Given the description of an element on the screen output the (x, y) to click on. 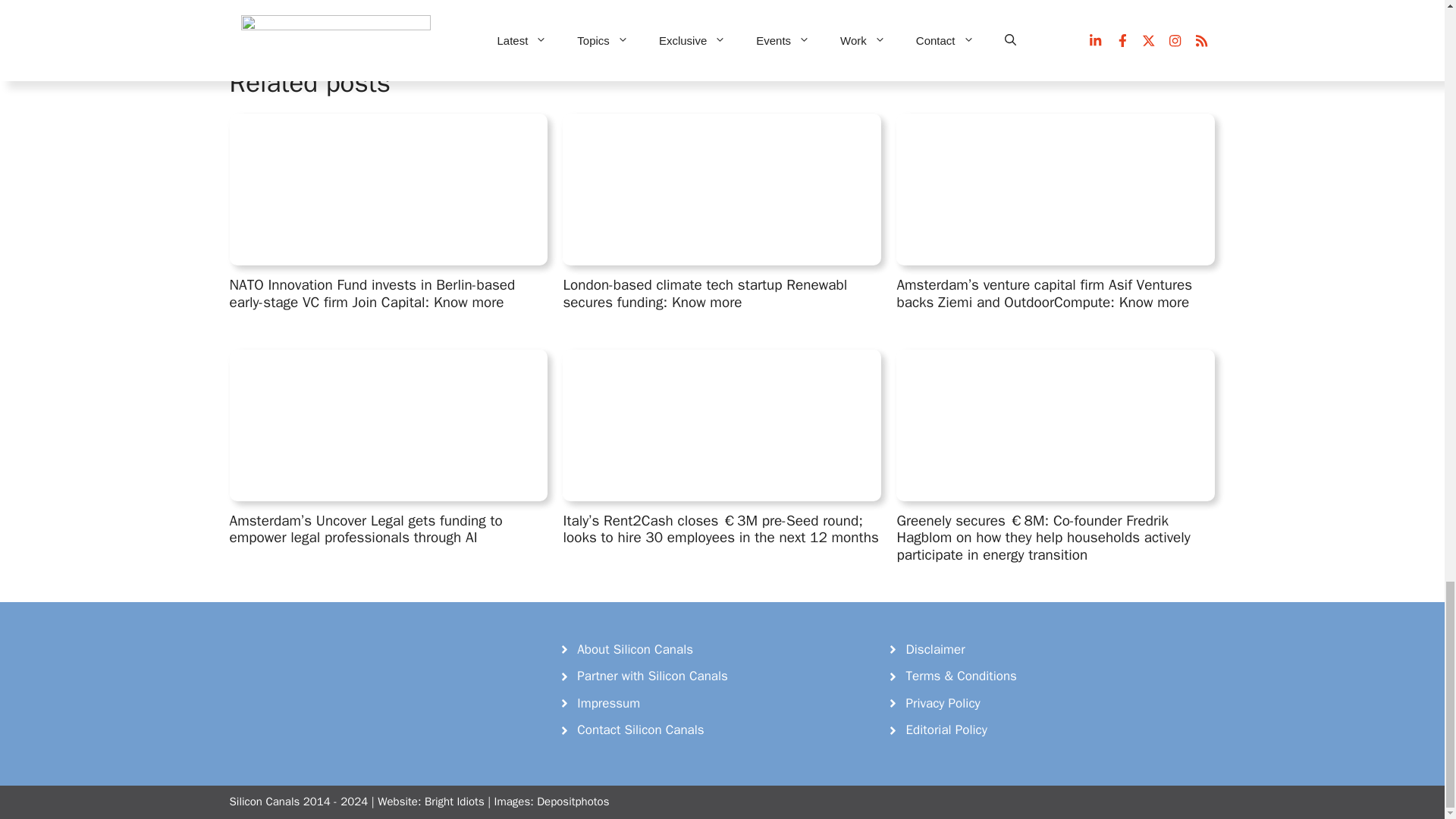
Silicon Canals logo white SC (342, 670)
